Given the description of an element on the screen output the (x, y) to click on. 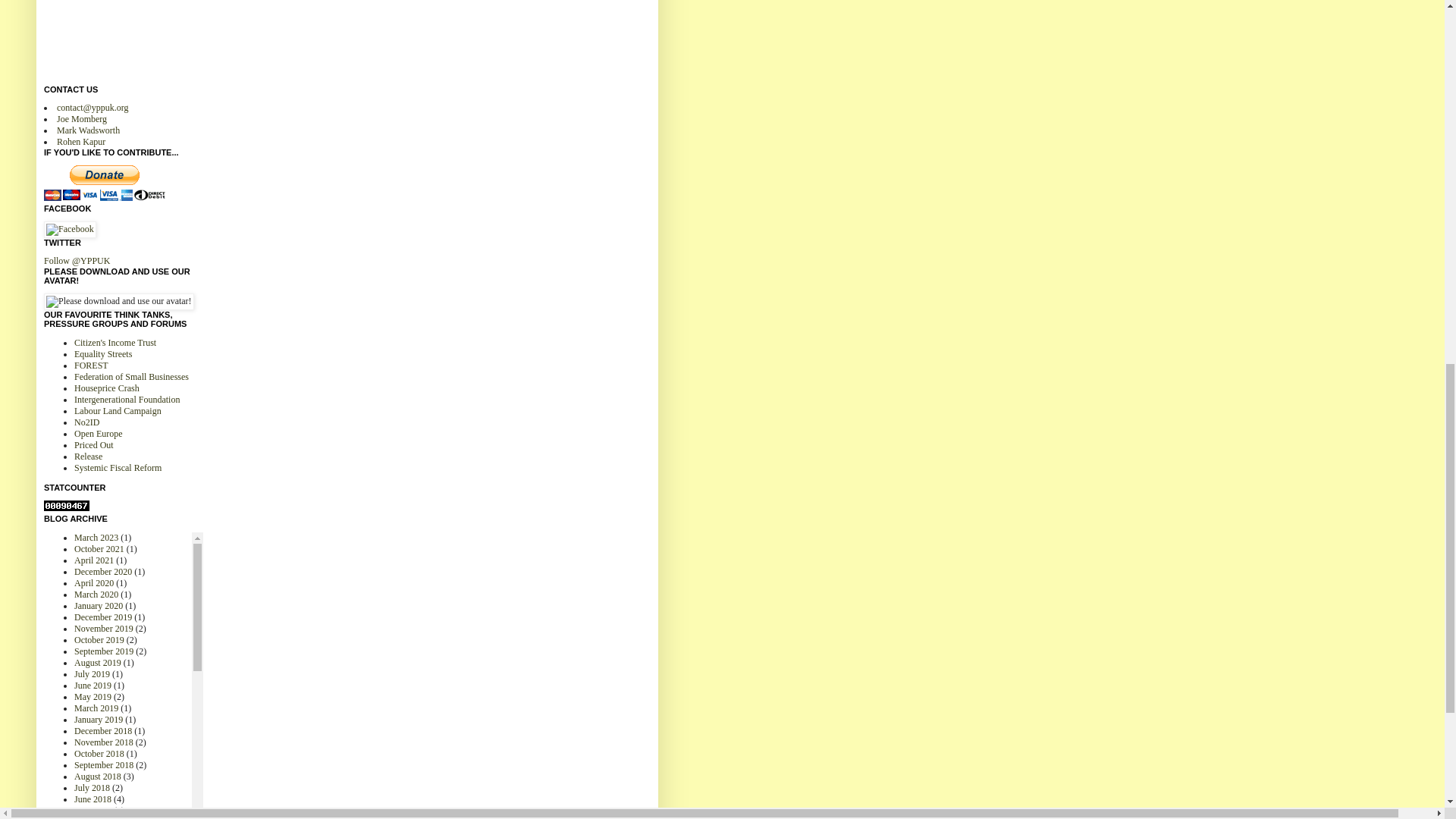
Labour Land Campaign (117, 410)
Federation of Small Businesses (131, 376)
Mark Wadsworth (87, 130)
No2ID (86, 421)
Joe Momberg (81, 118)
Open Europe (98, 433)
Rohen Kapur (80, 141)
Intergenerational Foundation (126, 398)
FOREST (90, 365)
Citizen's Income Trust (114, 342)
Houseprice Crash (106, 388)
Equality Streets (103, 353)
